Given the description of an element on the screen output the (x, y) to click on. 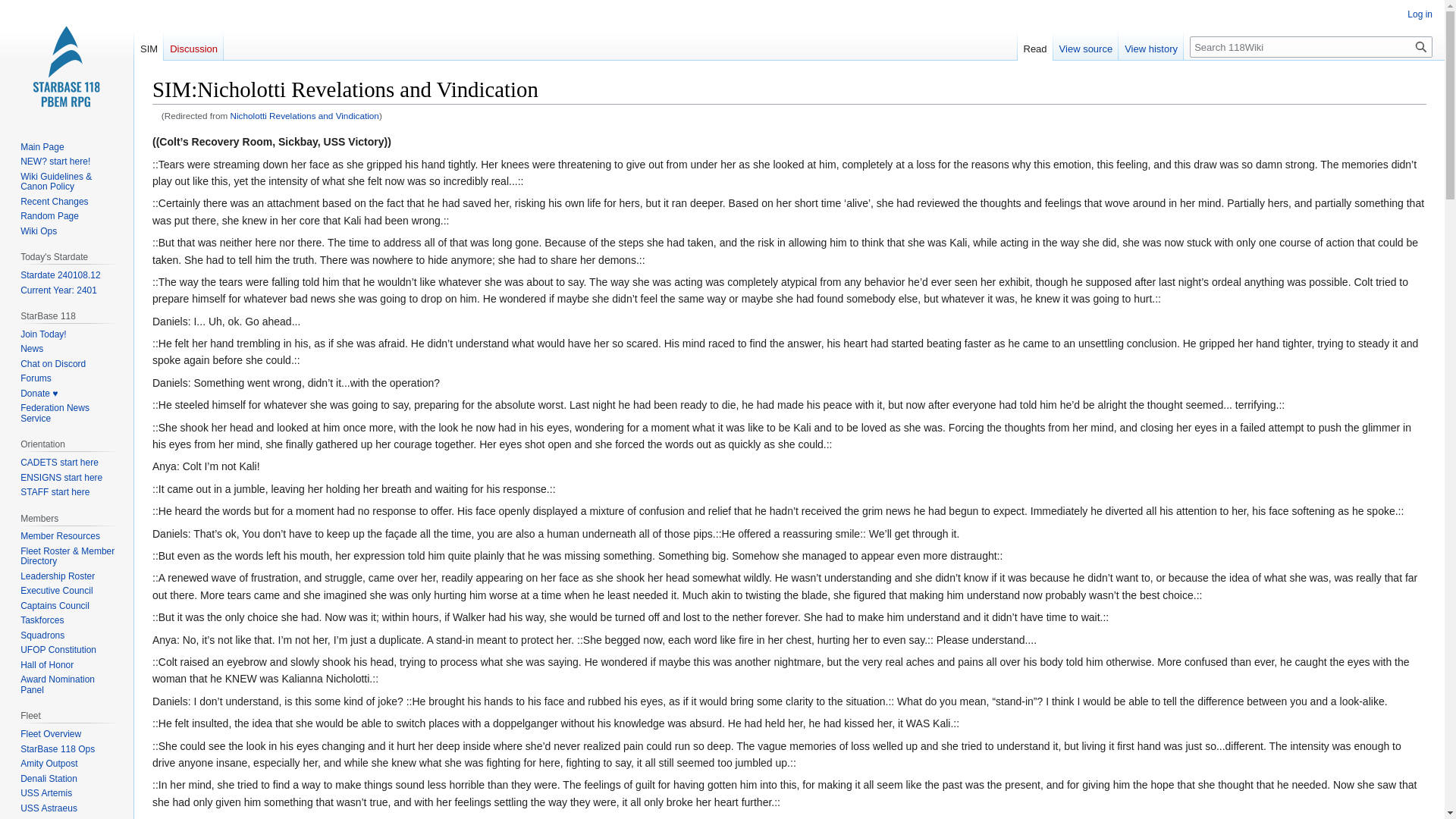
ENSIGNS start here (60, 477)
Random Page (49, 215)
Main Page (42, 146)
SIM (148, 45)
Nicholotti Revelations and Vindication (304, 115)
Visit the main page (66, 60)
Search (1420, 46)
Current Year: 2401 (58, 290)
Recent Changes (53, 201)
